Given the description of an element on the screen output the (x, y) to click on. 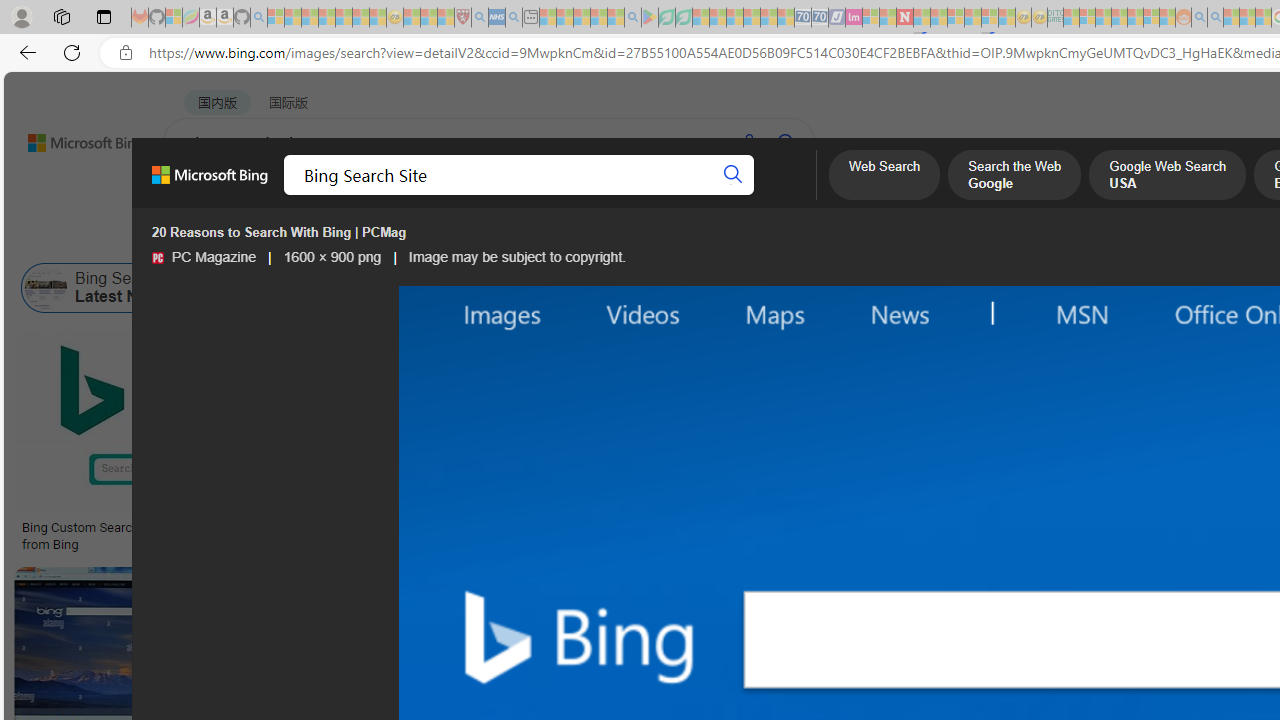
Bing - SEOLendSave (497, 444)
People (520, 237)
Layout (443, 237)
Class: item col (1081, 287)
Bing as Search Engine (222, 287)
Bing Home Screen (625, 287)
